Given the description of an element on the screen output the (x, y) to click on. 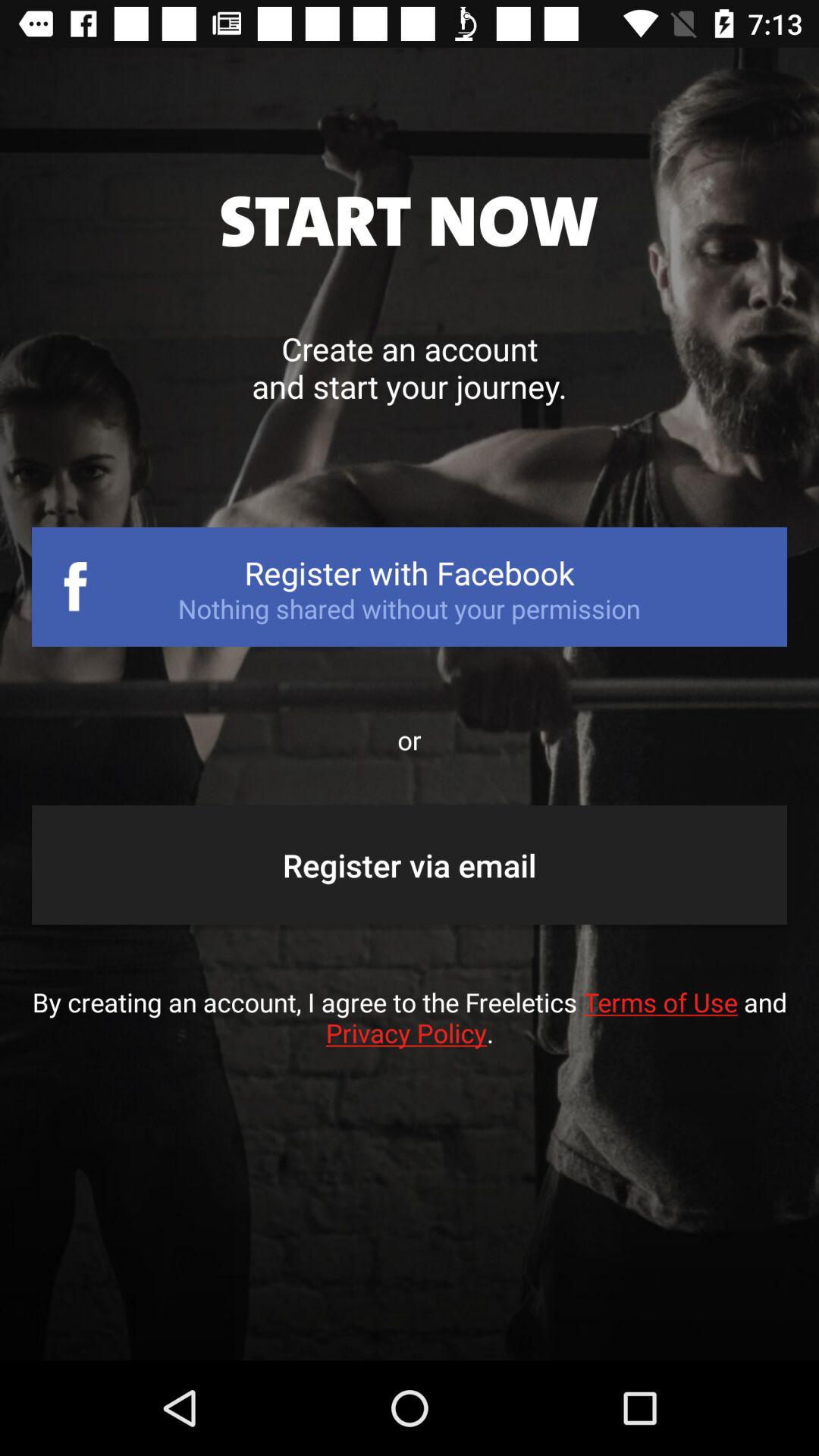
turn off the register via email (409, 864)
